Given the description of an element on the screen output the (x, y) to click on. 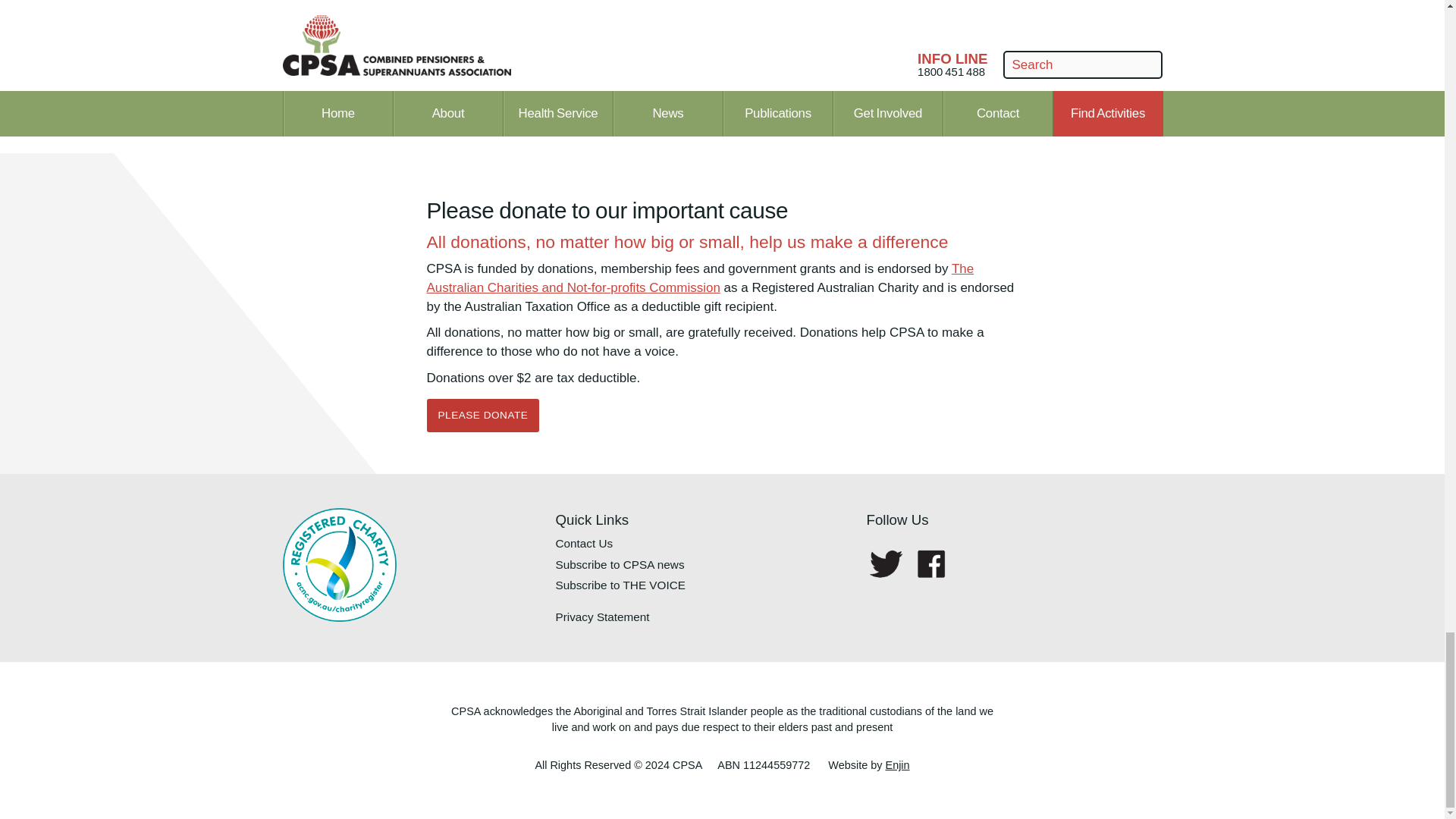
WordPress website designed and developed by Enjin (897, 765)
